Given the description of an element on the screen output the (x, y) to click on. 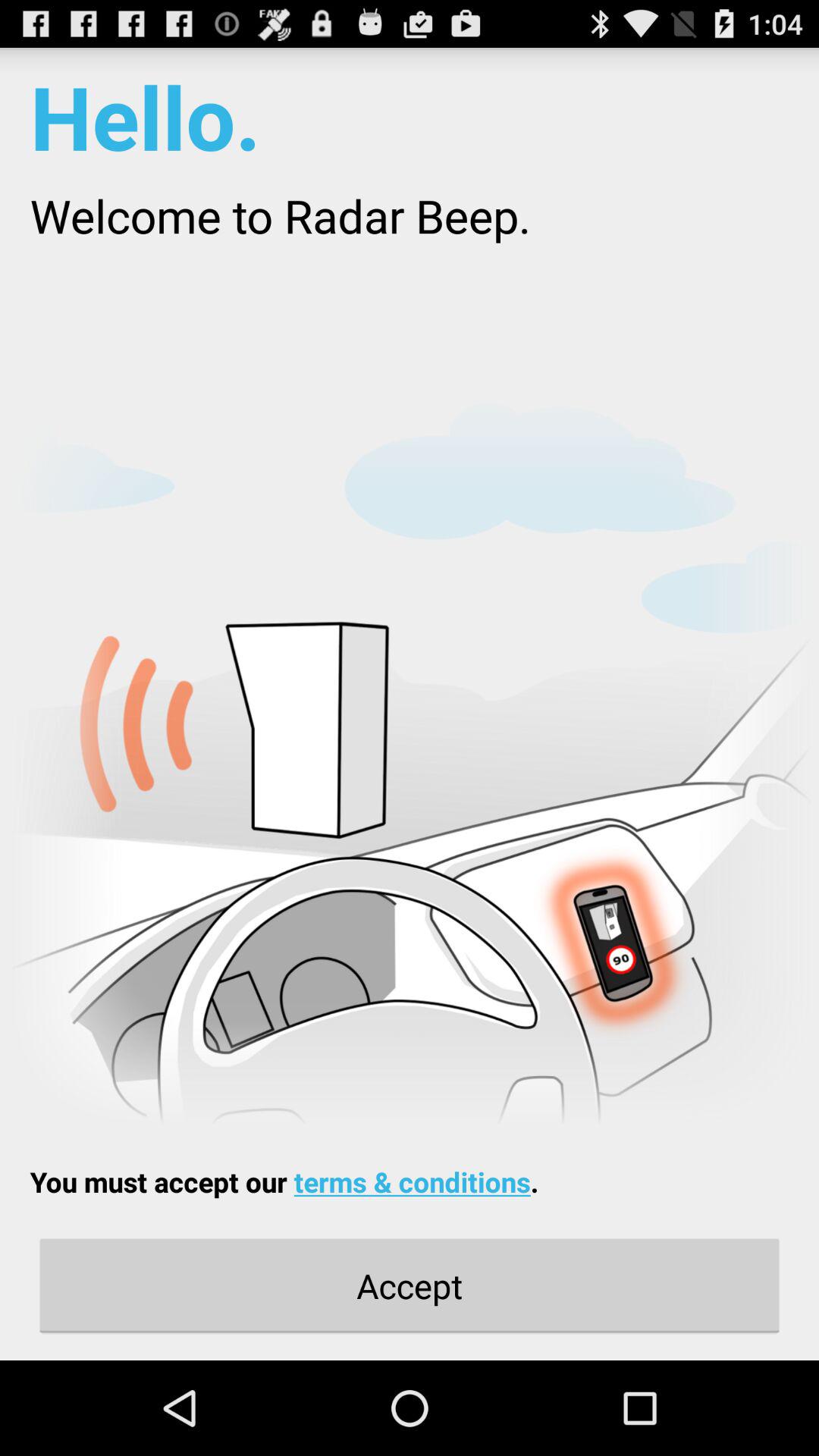
open button above accept icon (284, 1181)
